Given the description of an element on the screen output the (x, y) to click on. 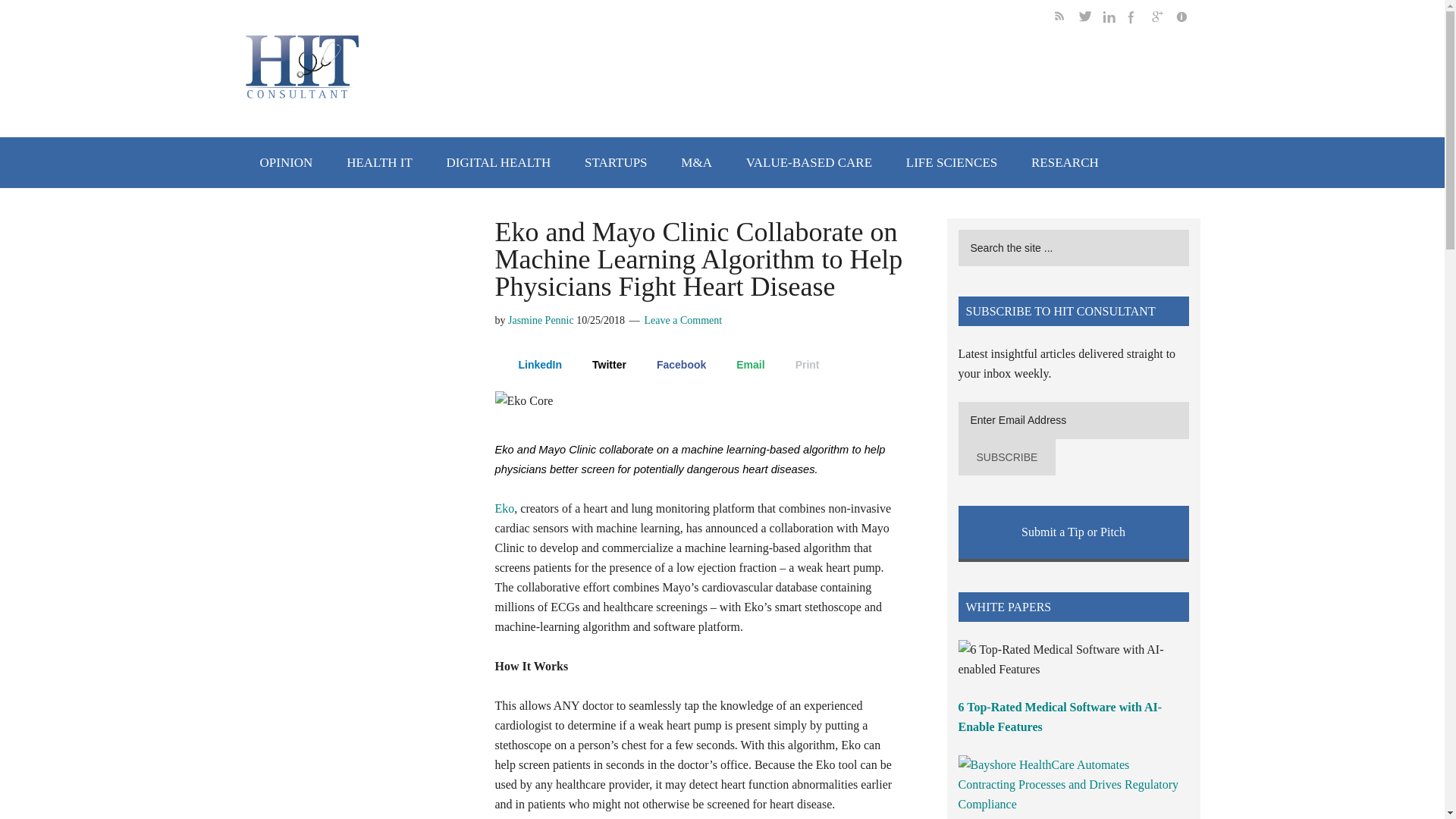
get feed (1066, 19)
follow (1114, 19)
Subscribe (1007, 456)
follow (1138, 19)
get more info (1186, 19)
OPINION (285, 162)
follow (1090, 19)
Jasmine Pennic (540, 319)
VALUE-BASED CARE (808, 162)
